Given the description of an element on the screen output the (x, y) to click on. 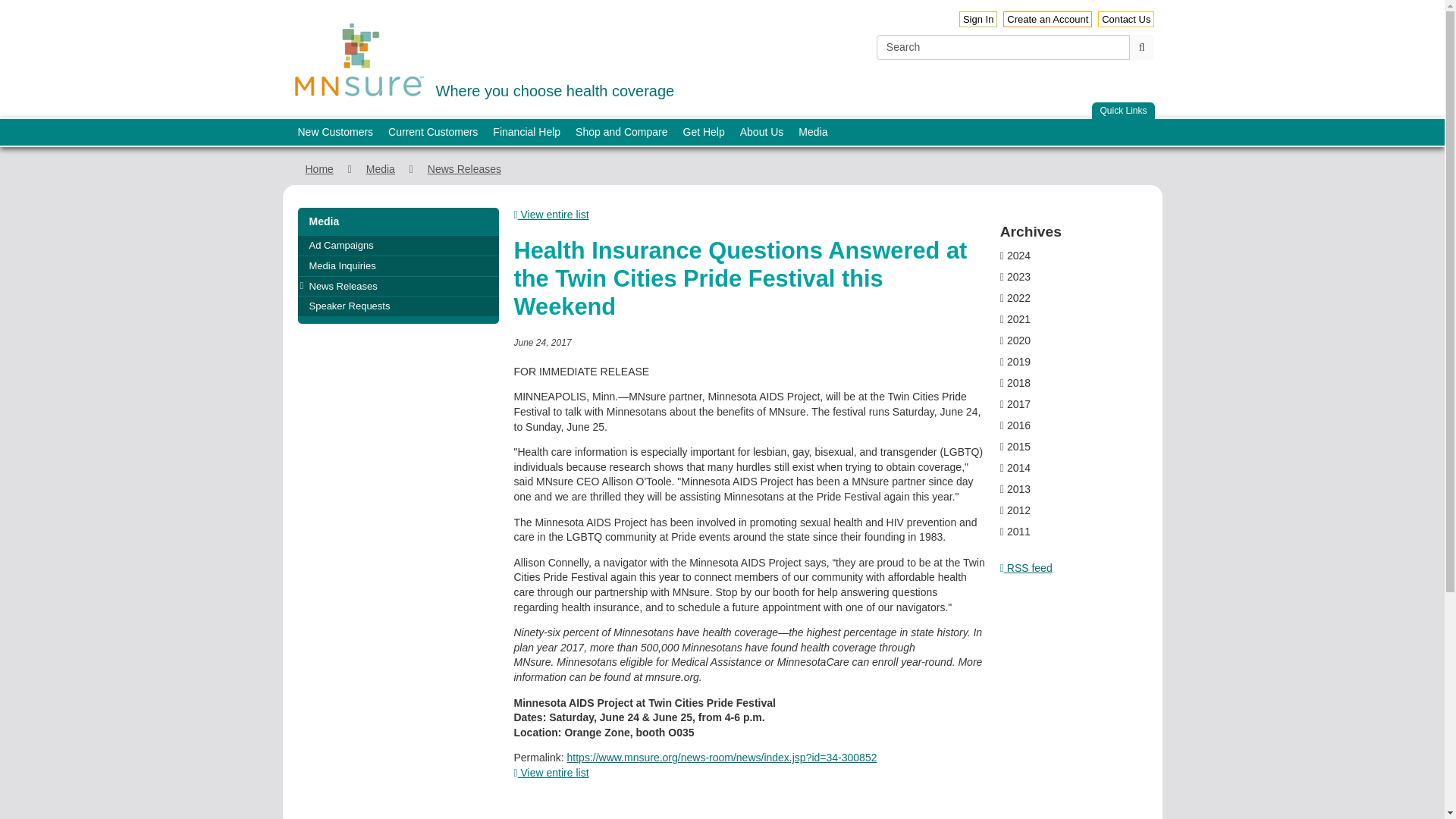
Quick Links (1123, 110)
New Customers (481, 57)
Sign In (334, 131)
return to home page (978, 19)
Create an Account (358, 60)
Contact Us (1047, 19)
submit (1125, 19)
